Given the description of an element on the screen output the (x, y) to click on. 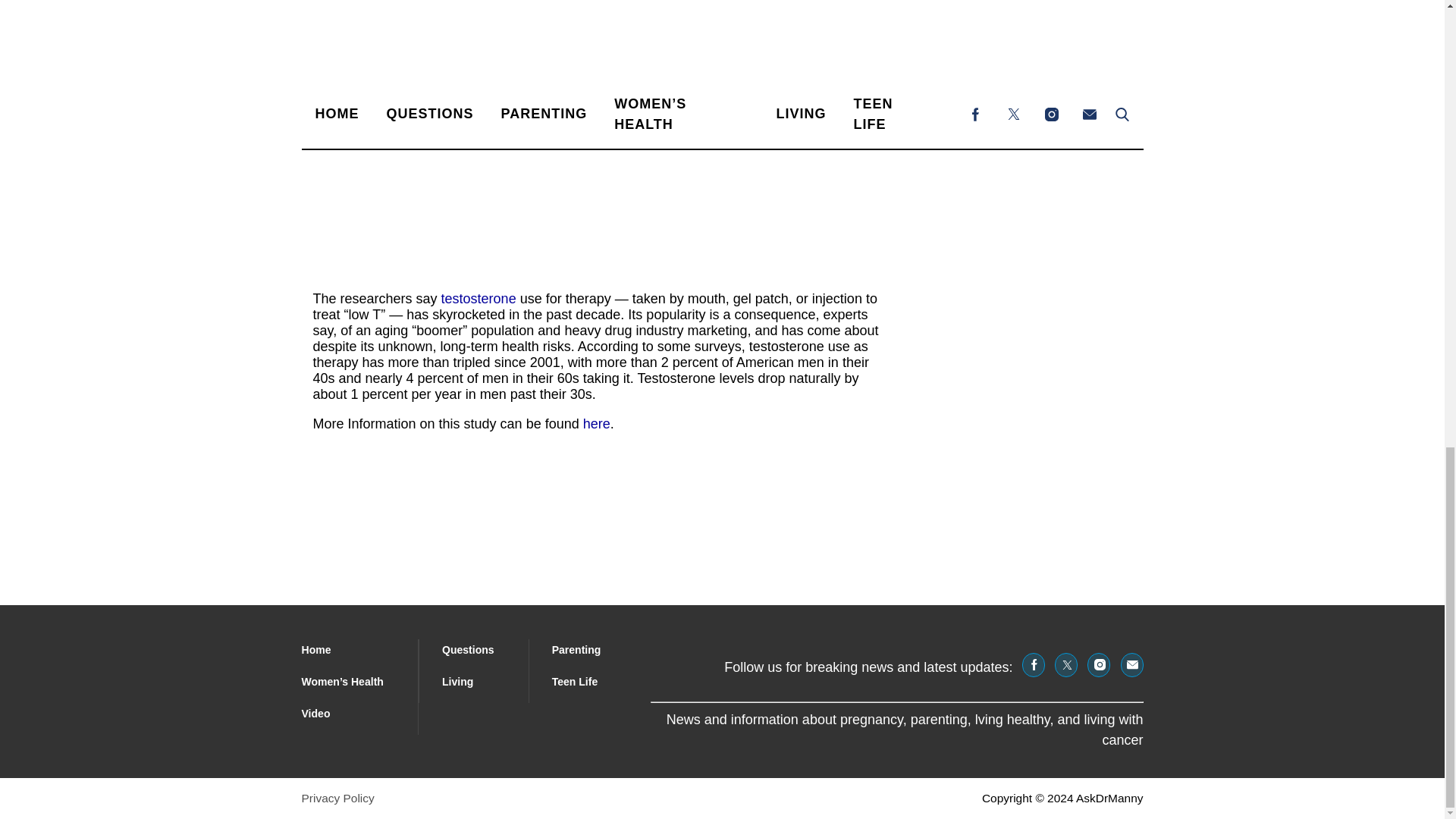
Follow us on Twitter (1065, 664)
Home (316, 649)
Parenting (576, 649)
Questions (468, 649)
Privacy Policy (337, 797)
here (596, 423)
Follow us on Facebook (1033, 664)
testosterone (478, 298)
Send us an email (1131, 664)
Follow us on Instagram (1098, 664)
